Given the description of an element on the screen output the (x, y) to click on. 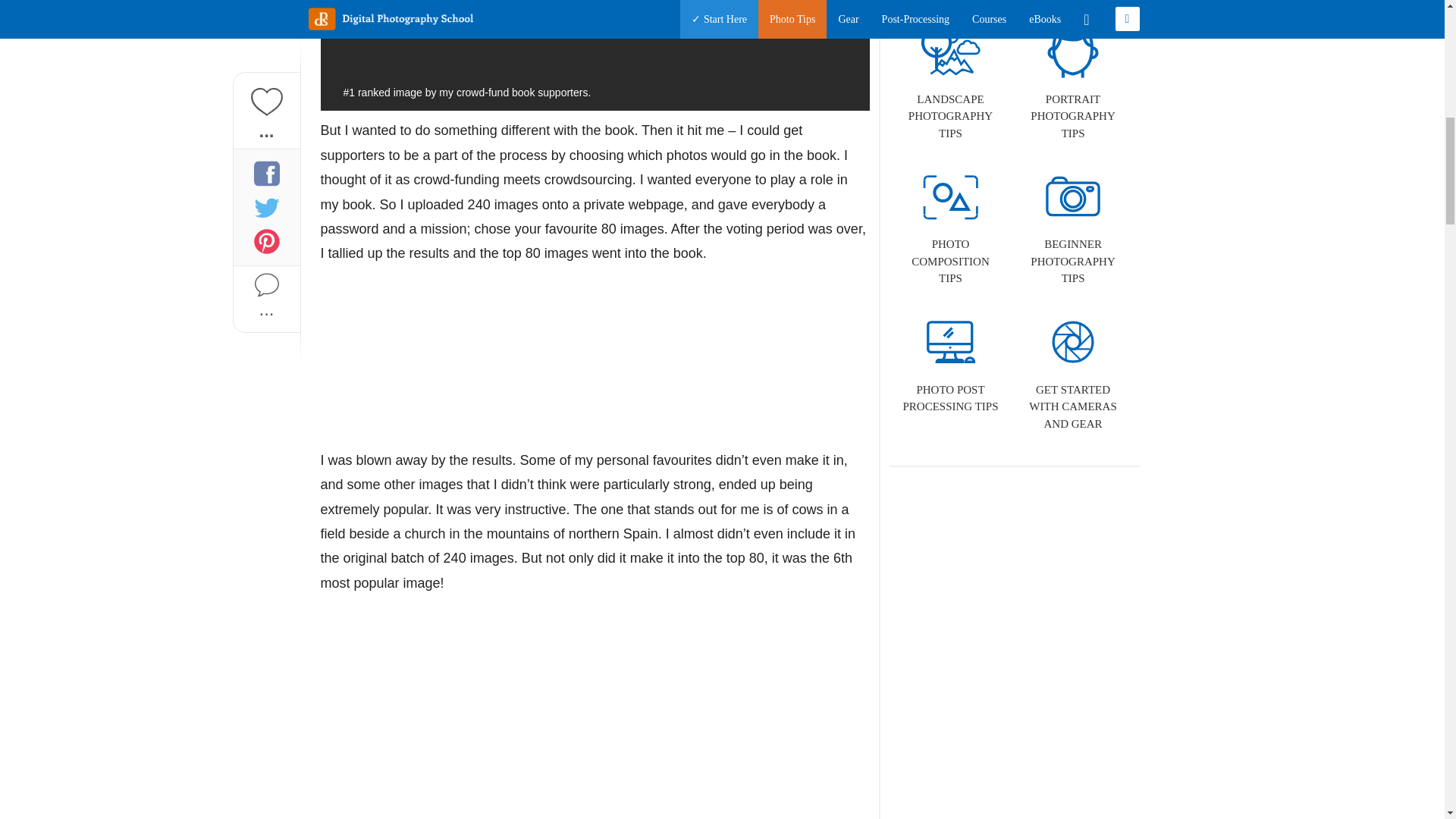
cows--ranked 6.jpg (594, 712)
